Given the description of an element on the screen output the (x, y) to click on. 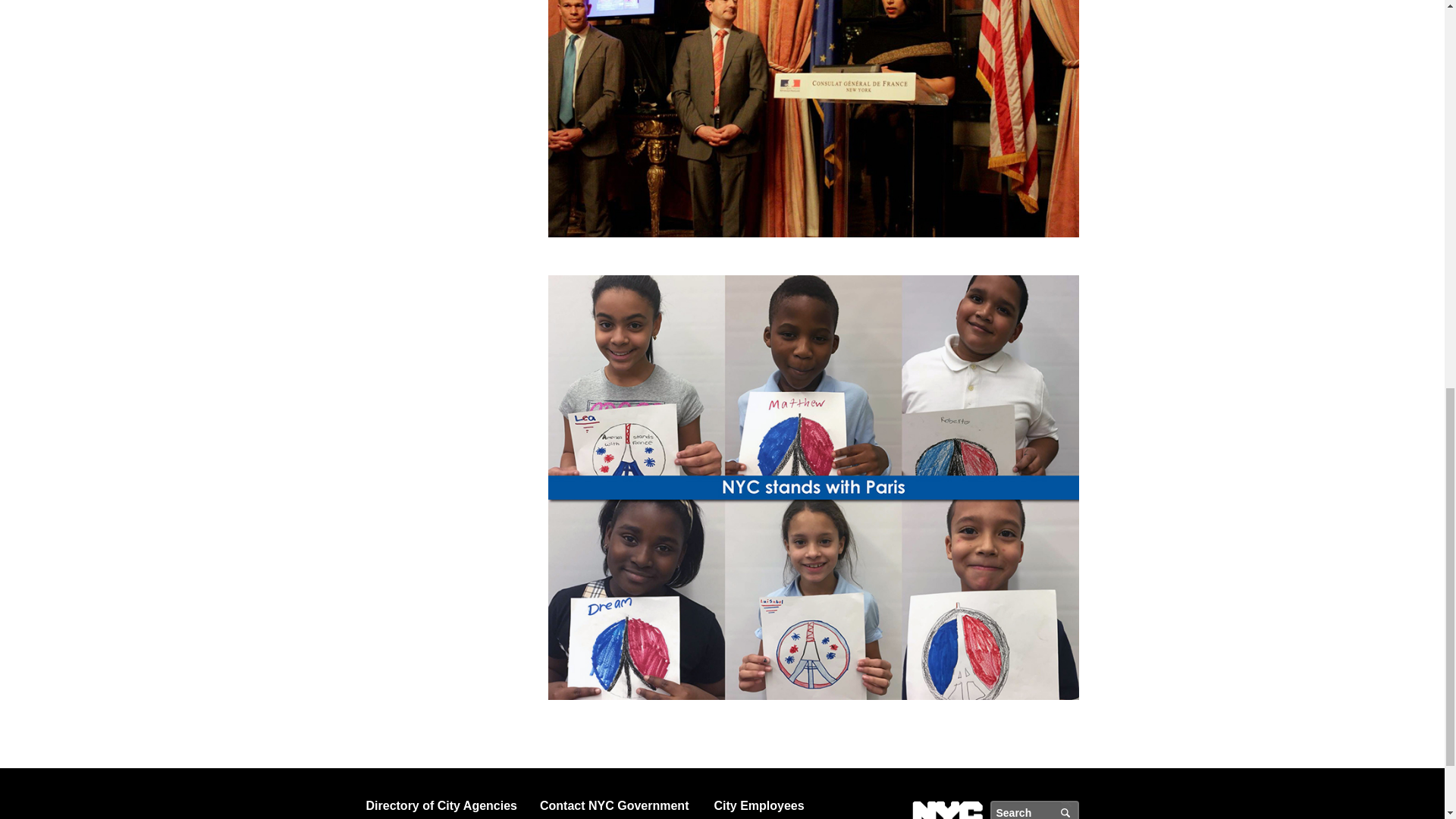
Search (1068, 809)
Contact NYC Government (620, 805)
City Employees (795, 805)
Directory of City Agencies (446, 805)
